Given the description of an element on the screen output the (x, y) to click on. 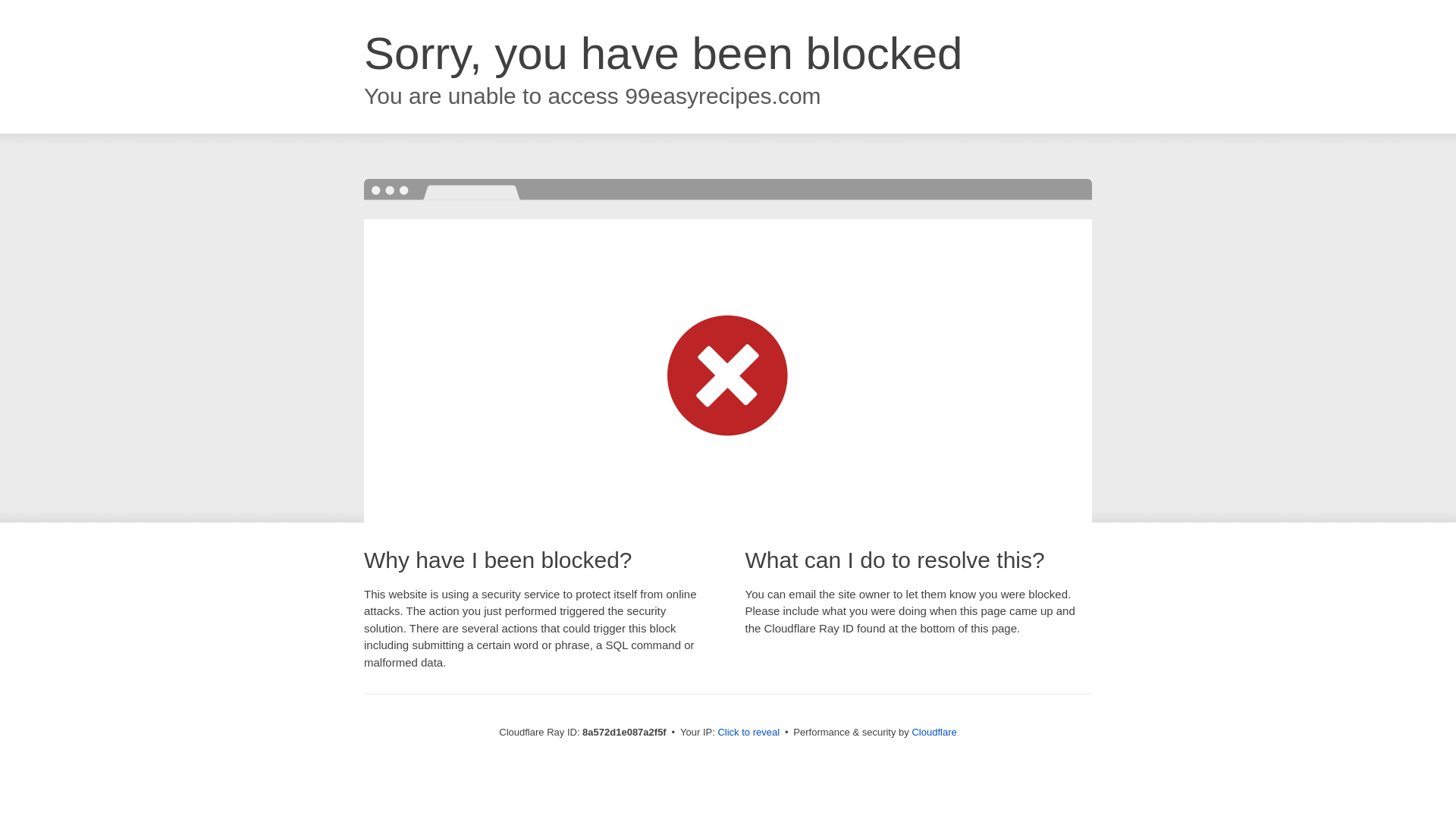
Cloudflare (933, 731)
Click to reveal (747, 732)
